Given the description of an element on the screen output the (x, y) to click on. 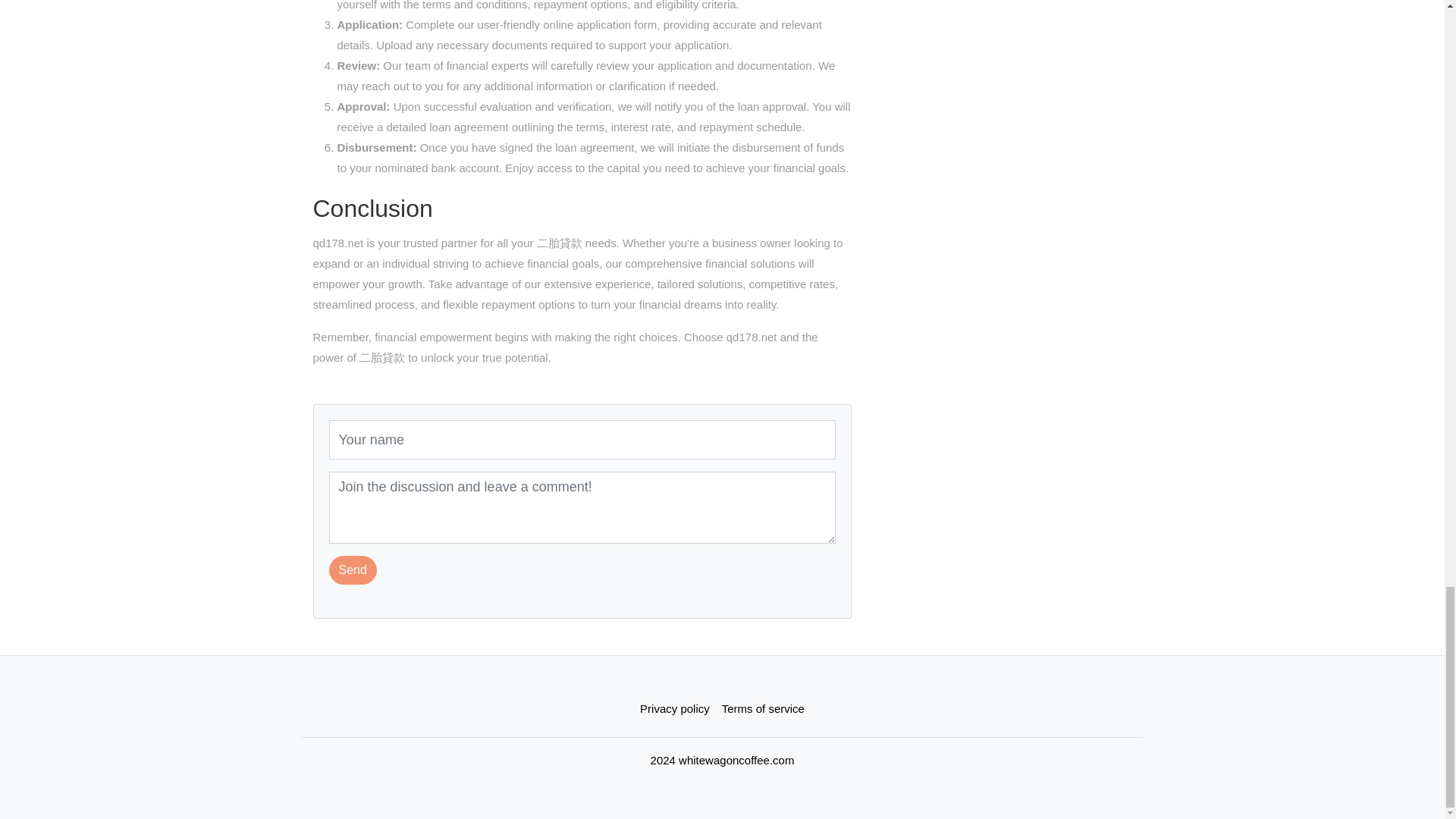
Terms of service (763, 708)
Send (353, 570)
Privacy policy (674, 708)
Send (353, 570)
